Given the description of an element on the screen output the (x, y) to click on. 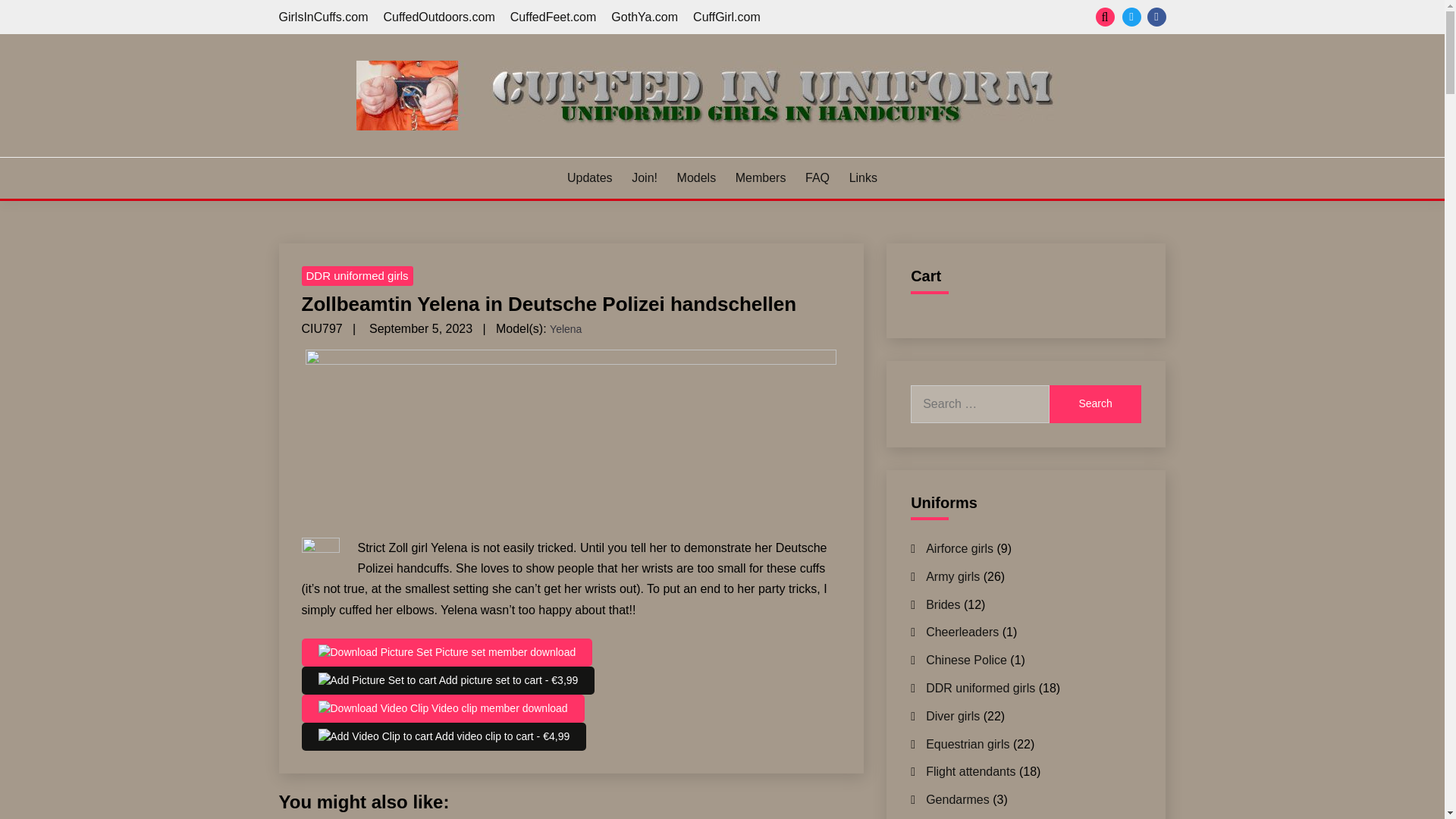
DDR uniformed girls (357, 275)
CuffedOutdoors.com (438, 16)
Search (1095, 403)
Twitter (1131, 16)
Yelena (565, 329)
GothYa.com (644, 16)
Members (760, 177)
CuffGirl.com (726, 16)
Facebook (1156, 16)
Video clip member download (443, 708)
